Given the description of an element on the screen output the (x, y) to click on. 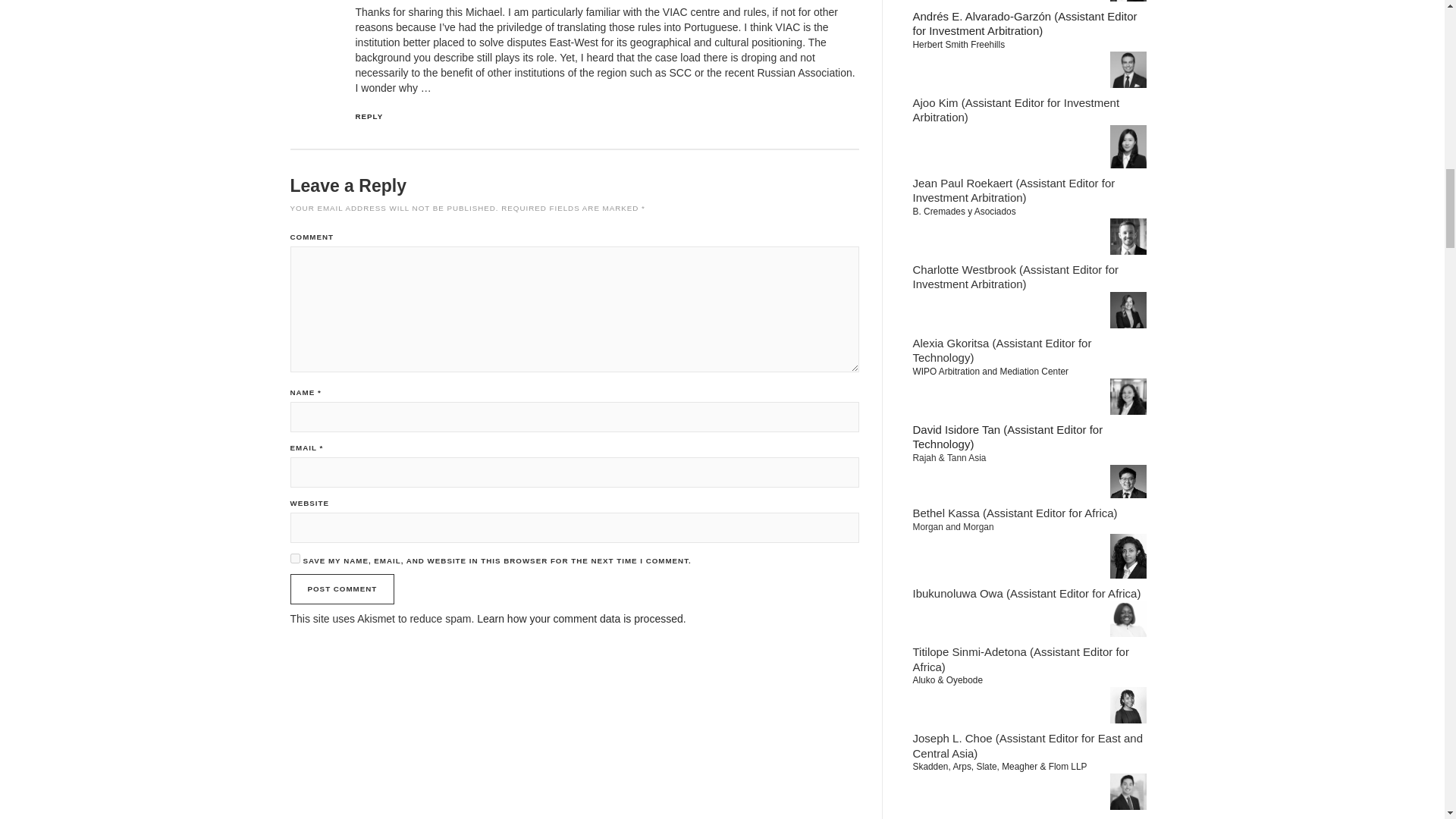
yes (294, 558)
Post Comment (341, 589)
REPLY (368, 116)
